Given the description of an element on the screen output the (x, y) to click on. 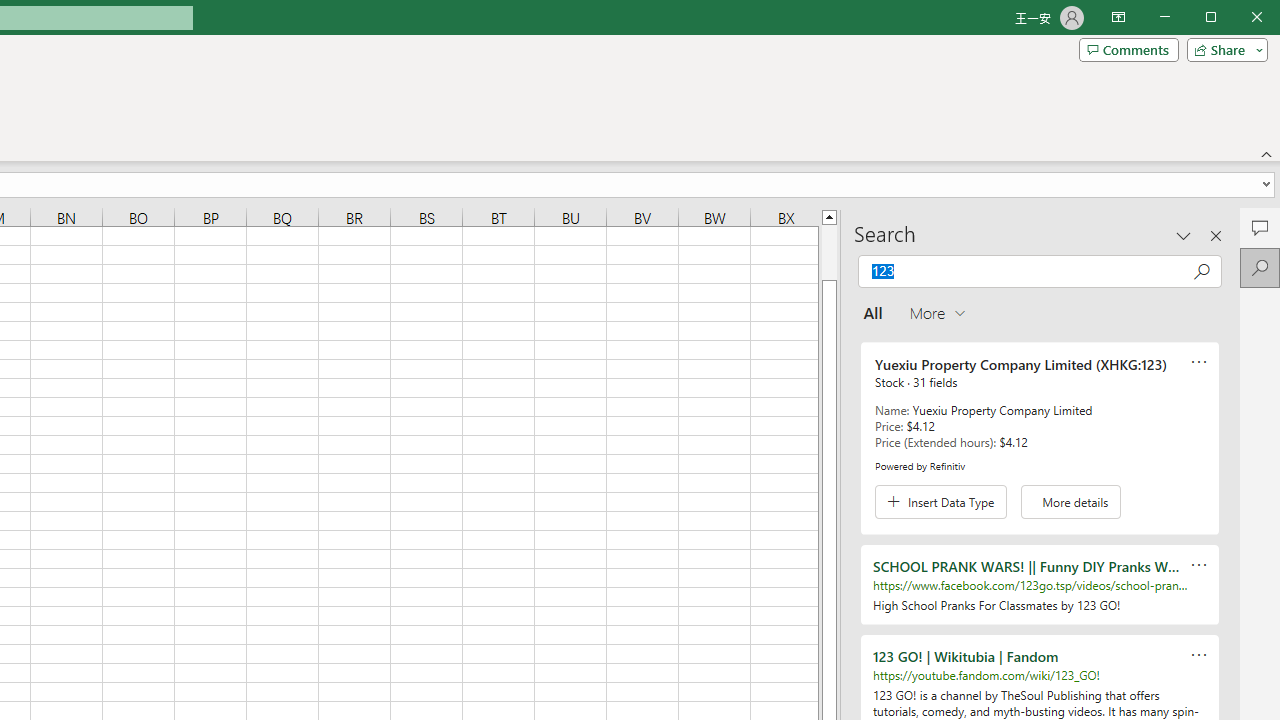
Page up (829, 252)
Maximize (1239, 18)
